Given the description of an element on the screen output the (x, y) to click on. 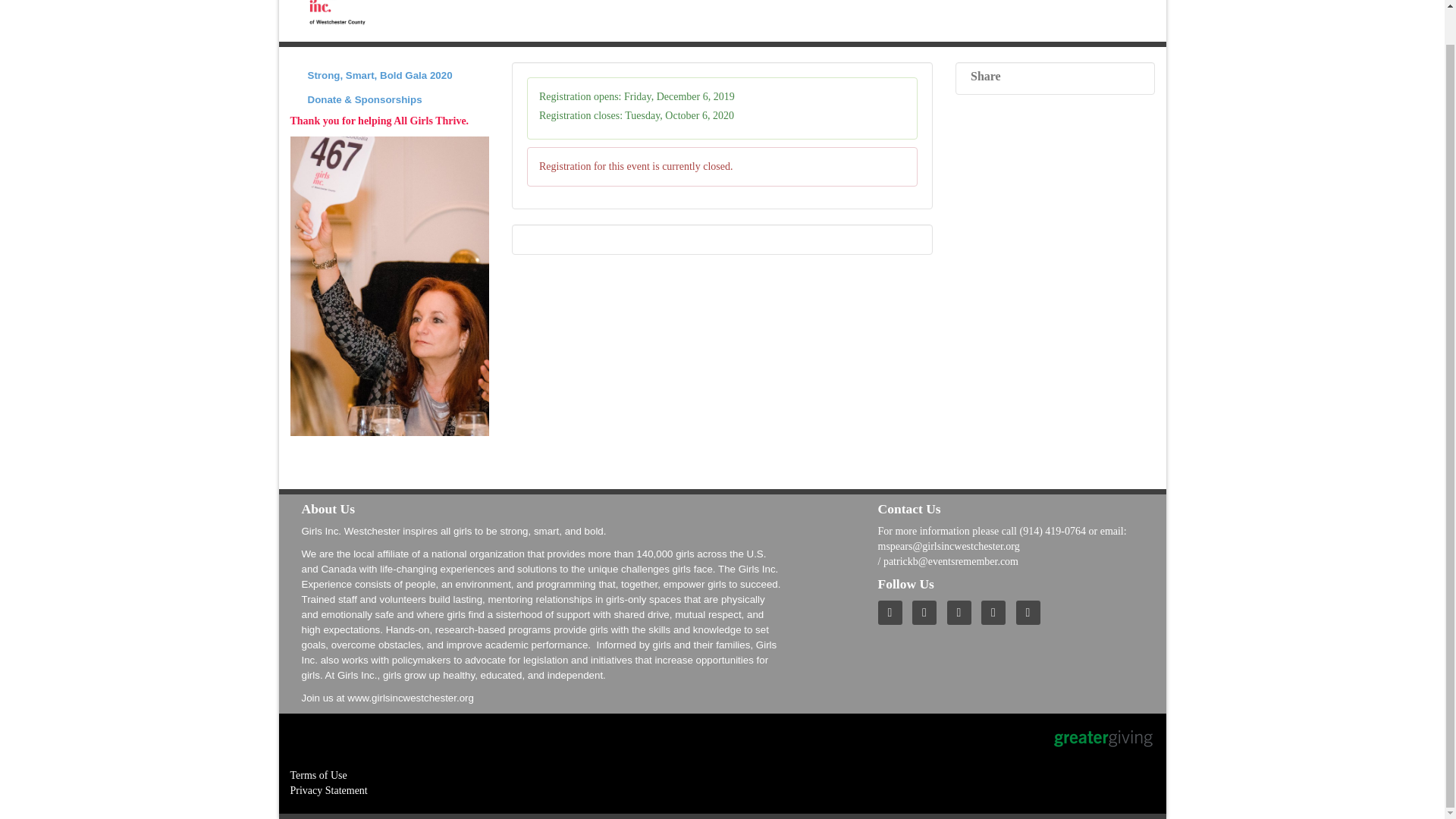
LinkedIn (997, 613)
Terms of Use (317, 775)
Instagram (1032, 613)
Nav Logo Image (336, 15)
Twitter (927, 613)
Home (893, 613)
Privacy Statement (327, 790)
Strong, Smart, Bold Gala 2020 (390, 74)
Facebook (962, 613)
